Given the description of an element on the screen output the (x, y) to click on. 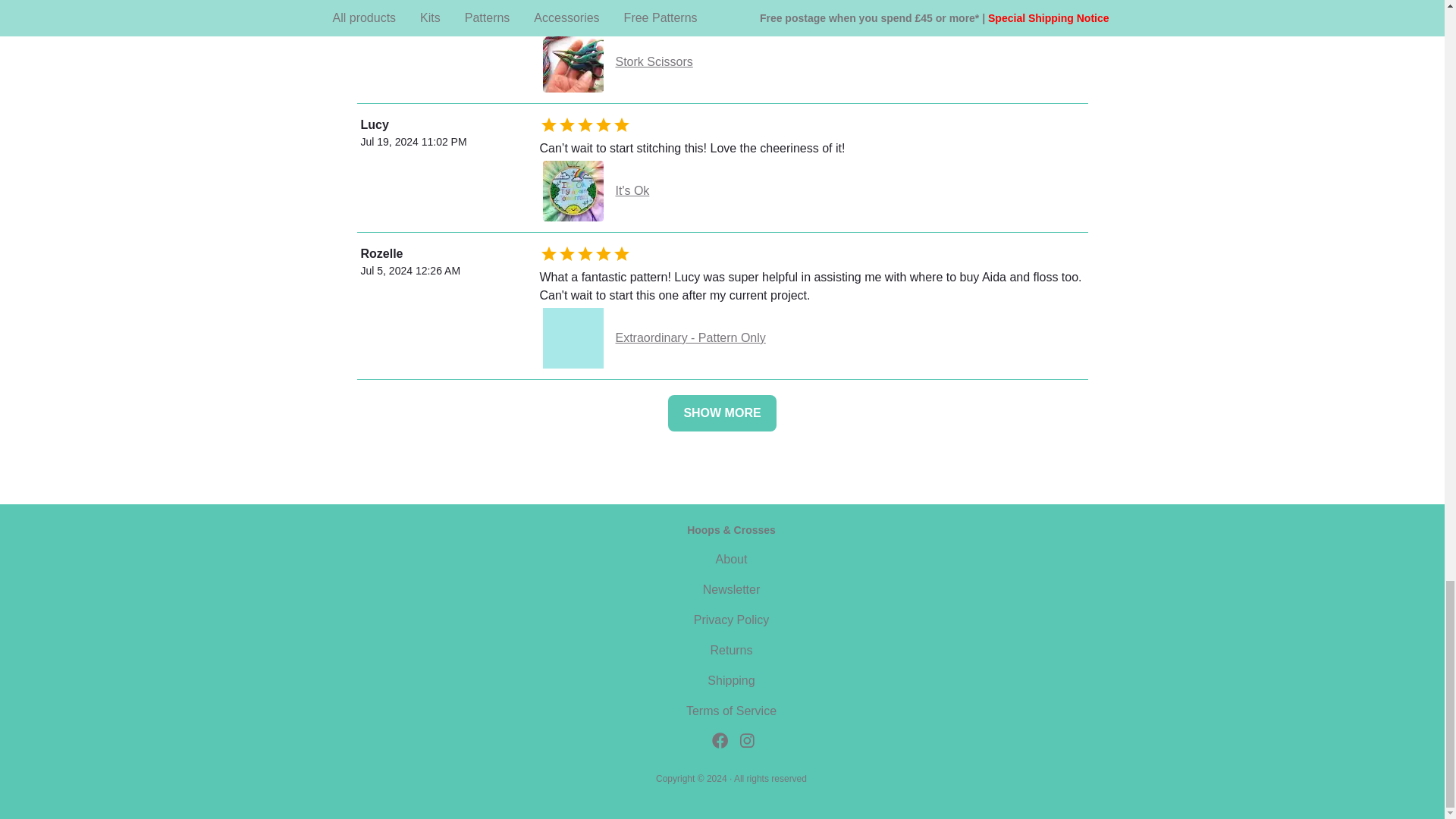
Stork Scissors (813, 61)
